Given the description of an element on the screen output the (x, y) to click on. 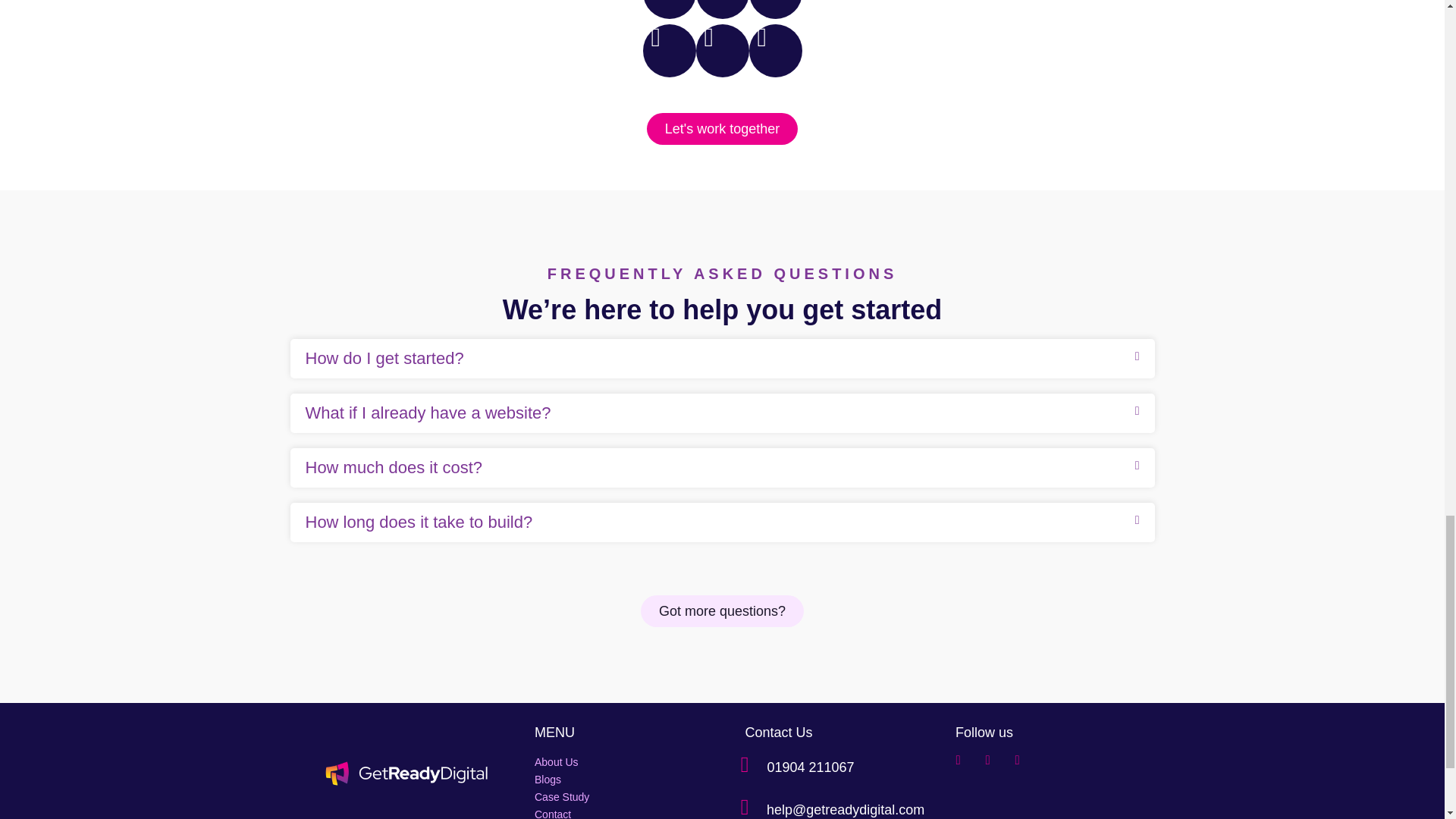
What if I already have a website? (427, 412)
Let's work together (721, 128)
How do I get started? (383, 357)
How much does it cost? (392, 466)
Case Study (616, 796)
Blogs (616, 779)
About Us (616, 762)
Got more questions? (721, 611)
How long does it take to build? (418, 521)
